Given the description of an element on the screen output the (x, y) to click on. 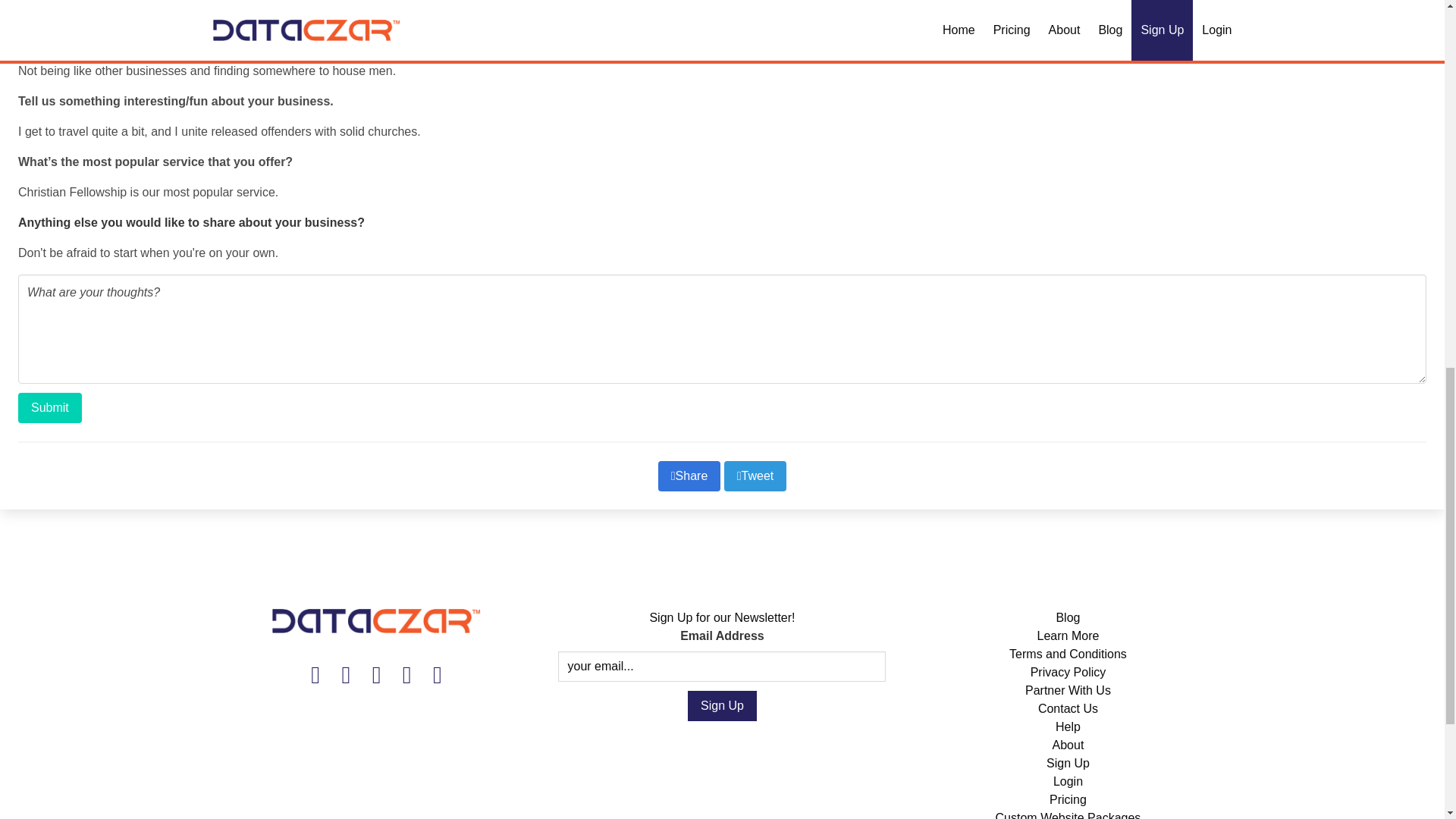
Privacy Policy (1068, 671)
Sign Up (722, 706)
Terms and Conditions (1067, 653)
Pricing (1067, 799)
Partner With Us (1067, 689)
Custom Website Packages (1068, 815)
Sign Up (1067, 762)
Help (1067, 726)
About (1068, 744)
Blog (1067, 617)
Submit (49, 408)
Share (689, 476)
Login (1067, 780)
Tweet (755, 476)
Learn More (1067, 635)
